Given the description of an element on the screen output the (x, y) to click on. 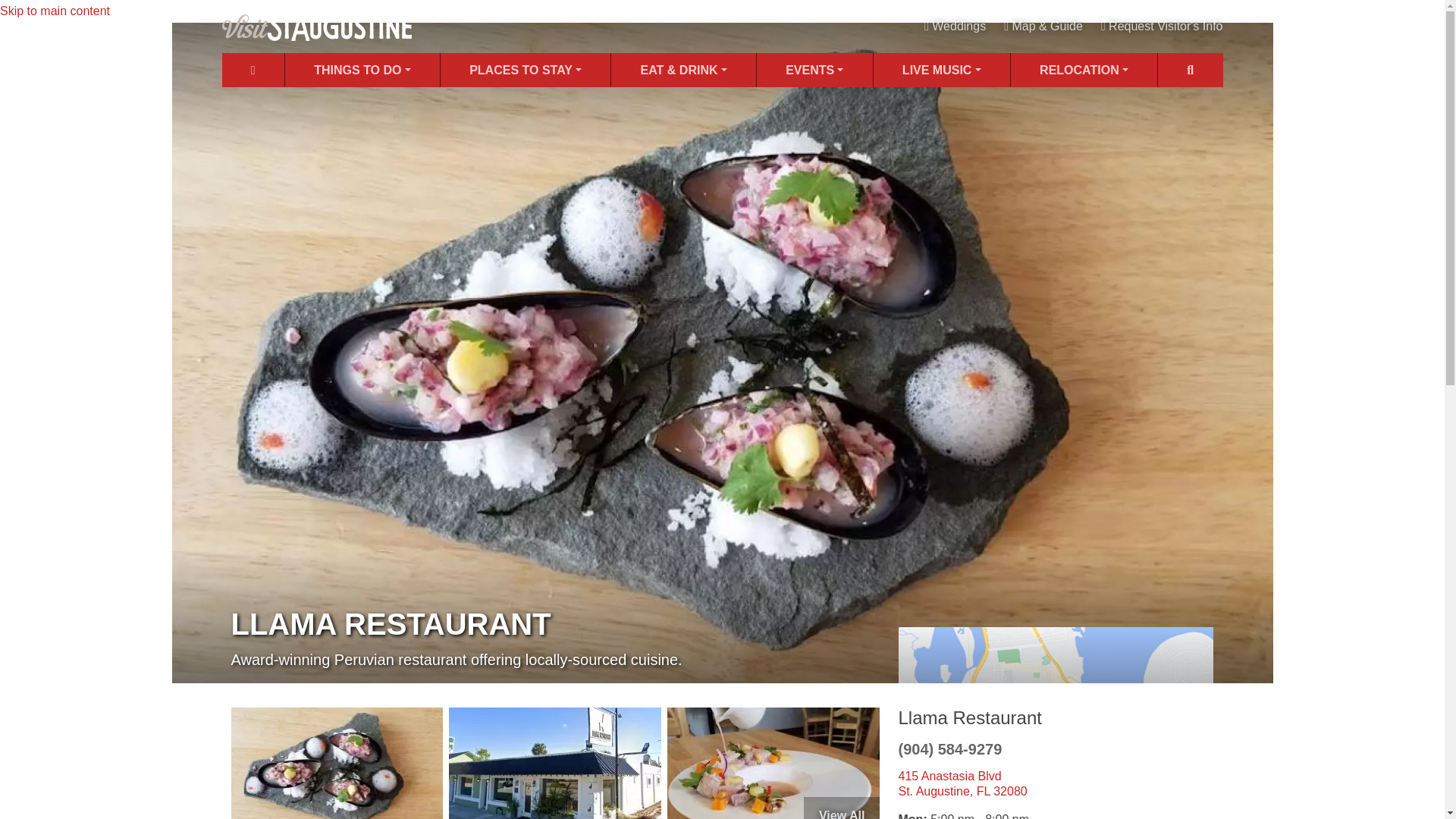
Discover your Perfect Florida Lifestyle (1083, 69)
PLACES TO STAY (525, 69)
Get directions to Llama Restaurant on Google Maps (962, 783)
Search (1190, 69)
Get directions to Llama Restaurant on Google Maps (1055, 721)
Weddings (954, 25)
THINGS TO DO (362, 69)
Ceviche is a popular dish at Llama Restaurant. (772, 763)
The exterior for Llama on A1A in St. Augustine. (554, 763)
Request Visitor's Info (1161, 25)
